Given the description of an element on the screen output the (x, y) to click on. 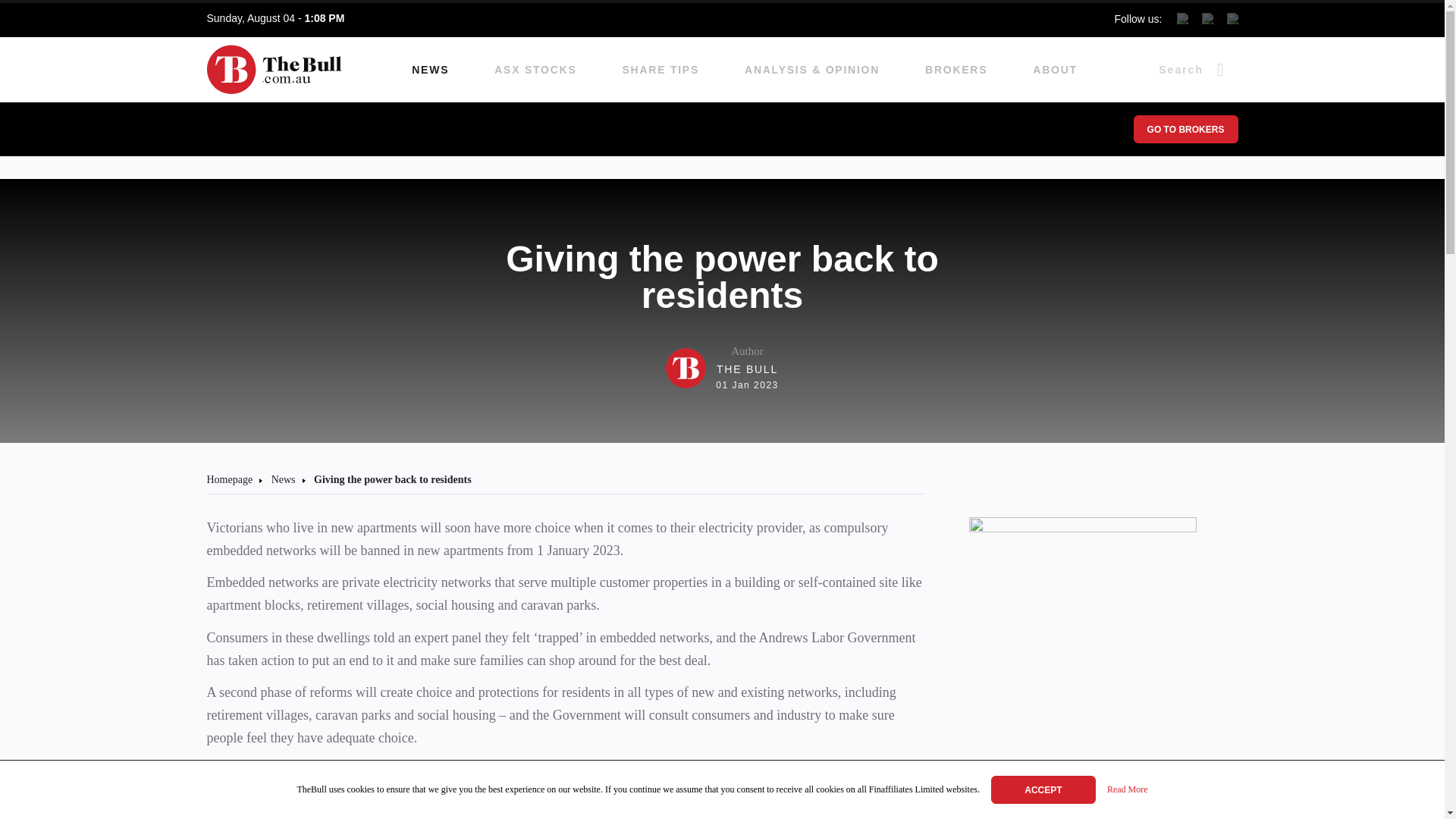
GO TO BROKERS (1184, 129)
ABOUT (1054, 69)
Read More (1127, 789)
SHARE TIPS (661, 69)
Homepage (721, 367)
BROKERS (228, 479)
ACCEPT (955, 69)
News (1043, 789)
NEWS (282, 479)
